Given the description of an element on the screen output the (x, y) to click on. 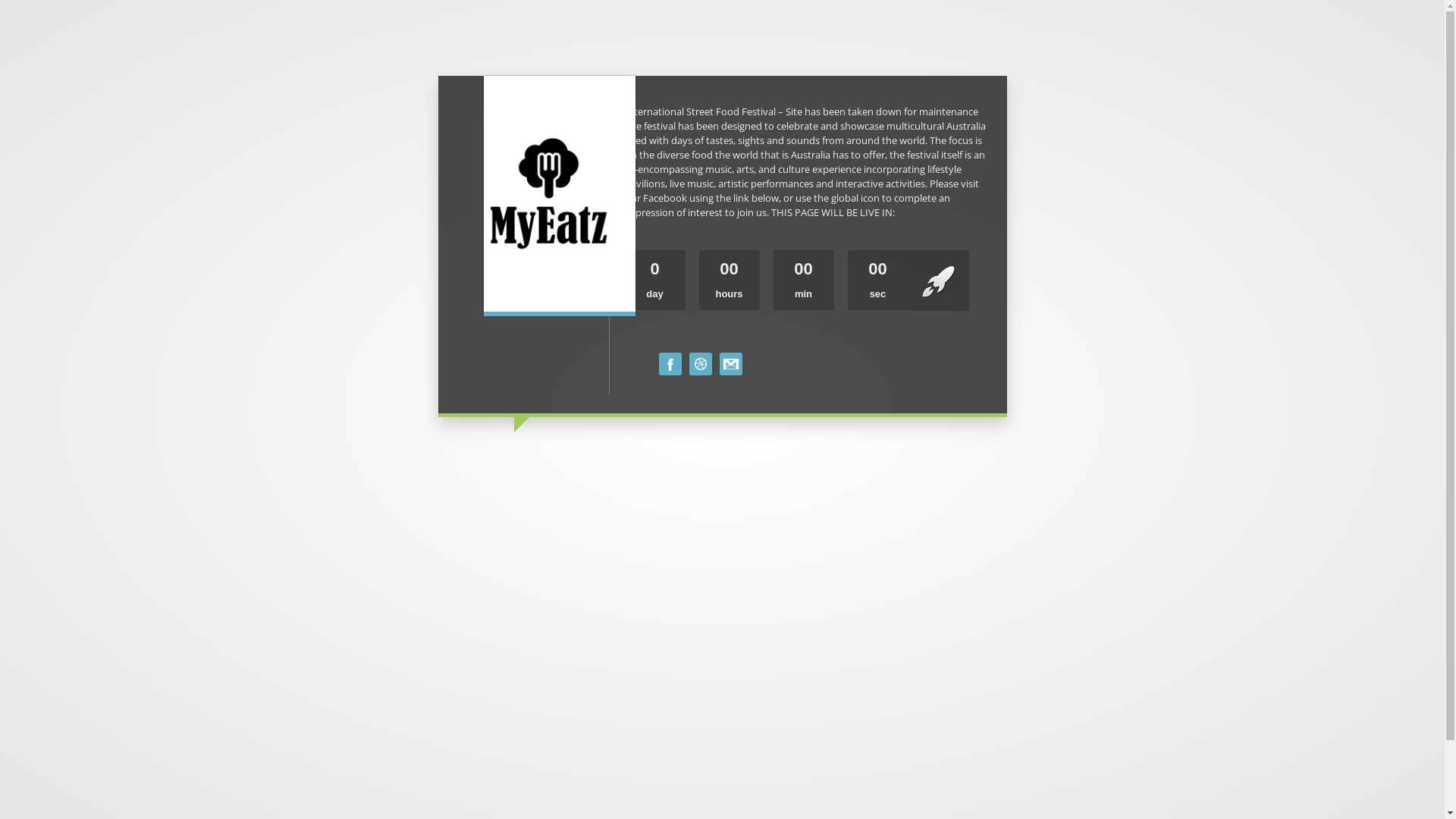
Mail Us Element type: text (729, 363)
Facebook Element type: text (669, 363)
Rebrand Element type: hover (548, 188)
EOI FORM Element type: text (699, 363)
